Given the description of an element on the screen output the (x, y) to click on. 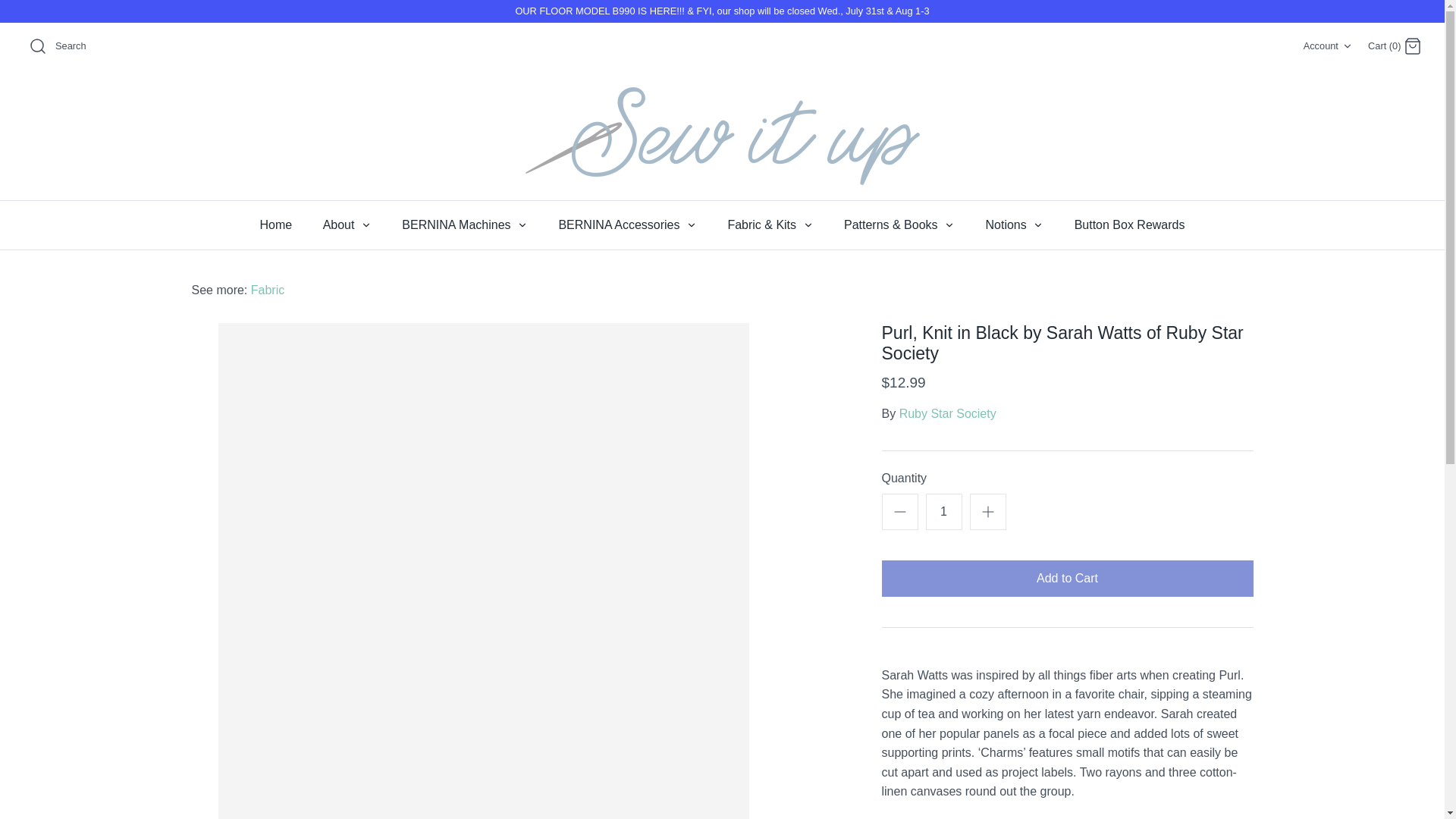
1 (942, 511)
SewitUp (721, 135)
Toggle menu (808, 225)
Minus (898, 511)
Plus (986, 511)
Toggle menu (691, 225)
Add to Cart (1066, 578)
Down (1347, 45)
Toggle menu (1037, 225)
Toggle menu (949, 225)
BERNINA Accessories Toggle menu (627, 224)
Toggle menu (366, 225)
About Toggle menu (346, 224)
BERNINA Machines Toggle menu (464, 224)
Cart (1412, 45)
